Given the description of an element on the screen output the (x, y) to click on. 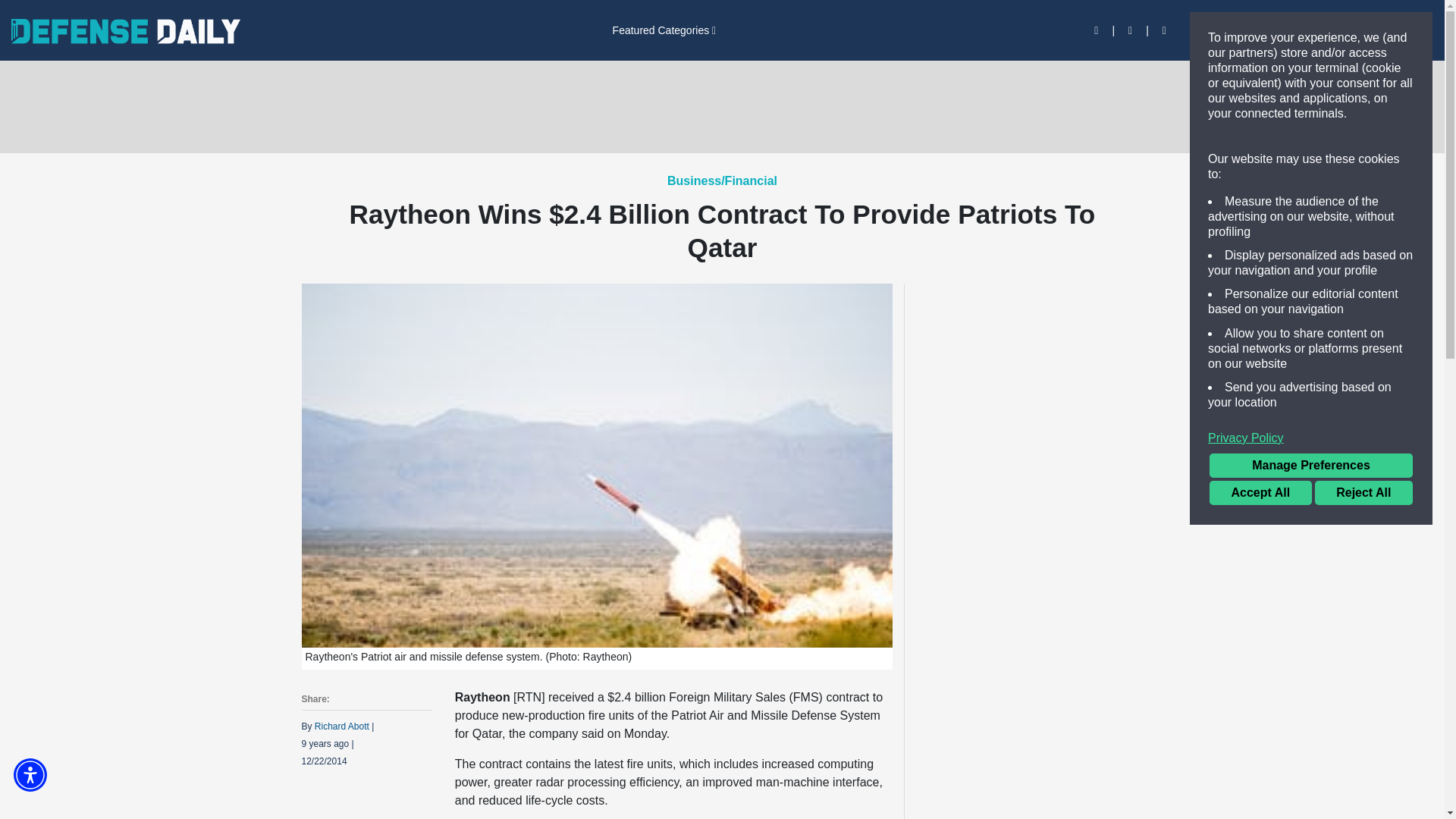
Manage Preferences (1310, 465)
Signup (1257, 30)
Accessibility Menu (29, 774)
Privacy Policy (1310, 437)
Accept All (1260, 492)
Reject All (1363, 492)
